Given the description of an element on the screen output the (x, y) to click on. 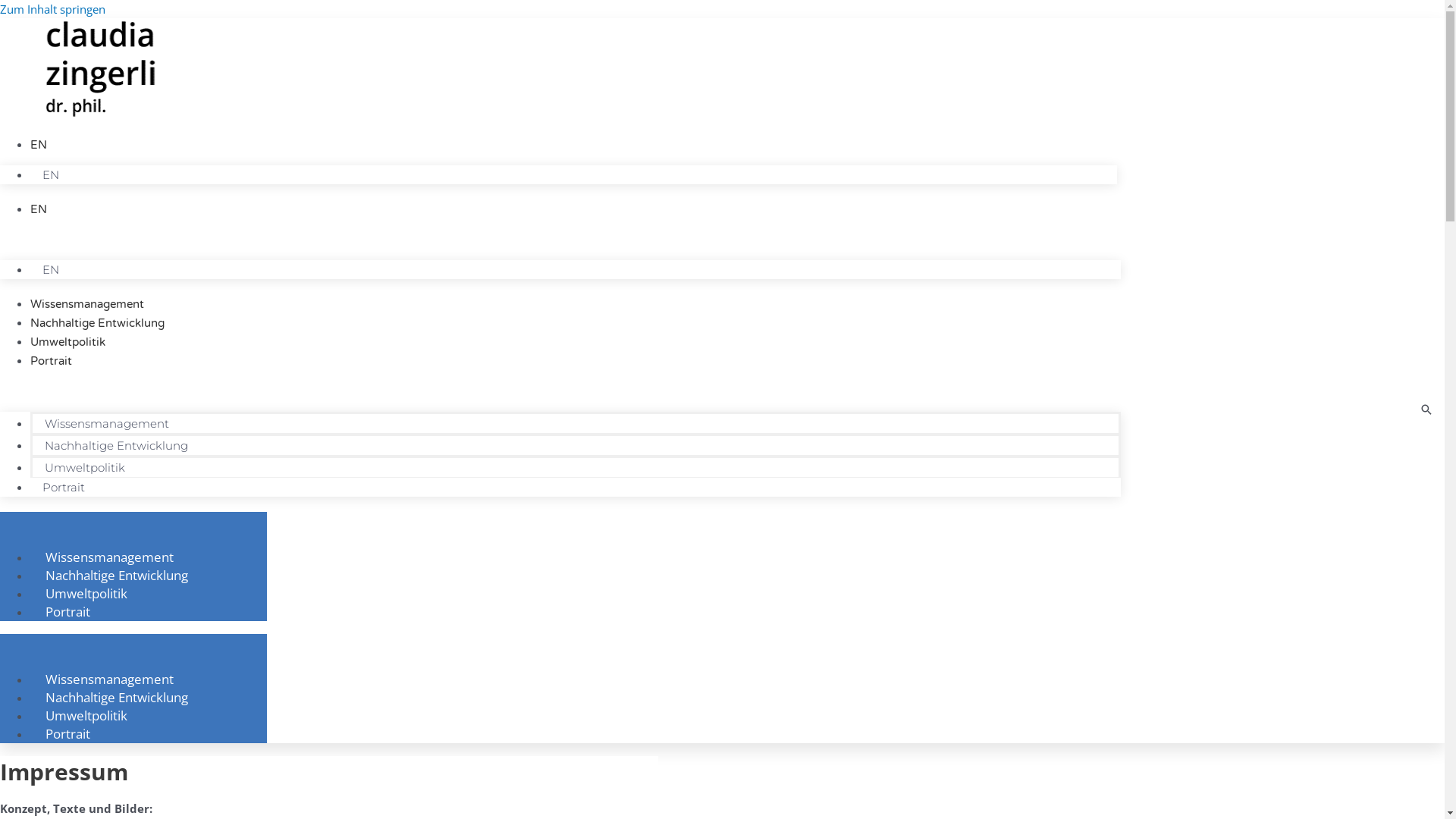
Nachhaltige Entwicklung Element type: text (97, 322)
Wissensmanagement Element type: text (106, 423)
Umweltpolitik Element type: text (86, 714)
Portrait Element type: text (67, 610)
Nachhaltige Entwicklung Element type: text (116, 696)
Nachhaltige Entwicklung Element type: text (116, 445)
Portrait Element type: text (63, 486)
Nachhaltige Entwicklung Element type: text (116, 574)
EN Element type: text (50, 269)
Wissensmanagement Element type: text (109, 678)
Umweltpolitik Element type: text (84, 467)
Portrait Element type: text (51, 360)
Wissensmanagement Element type: text (109, 556)
EN Element type: text (38, 208)
Zum Inhalt springen Element type: text (52, 8)
Portrait Element type: text (67, 732)
EN Element type: text (38, 144)
Umweltpolitik Element type: text (86, 592)
EN Element type: text (50, 174)
Wissensmanagement Element type: text (87, 303)
Umweltpolitik Element type: text (67, 341)
